Given the description of an element on the screen output the (x, y) to click on. 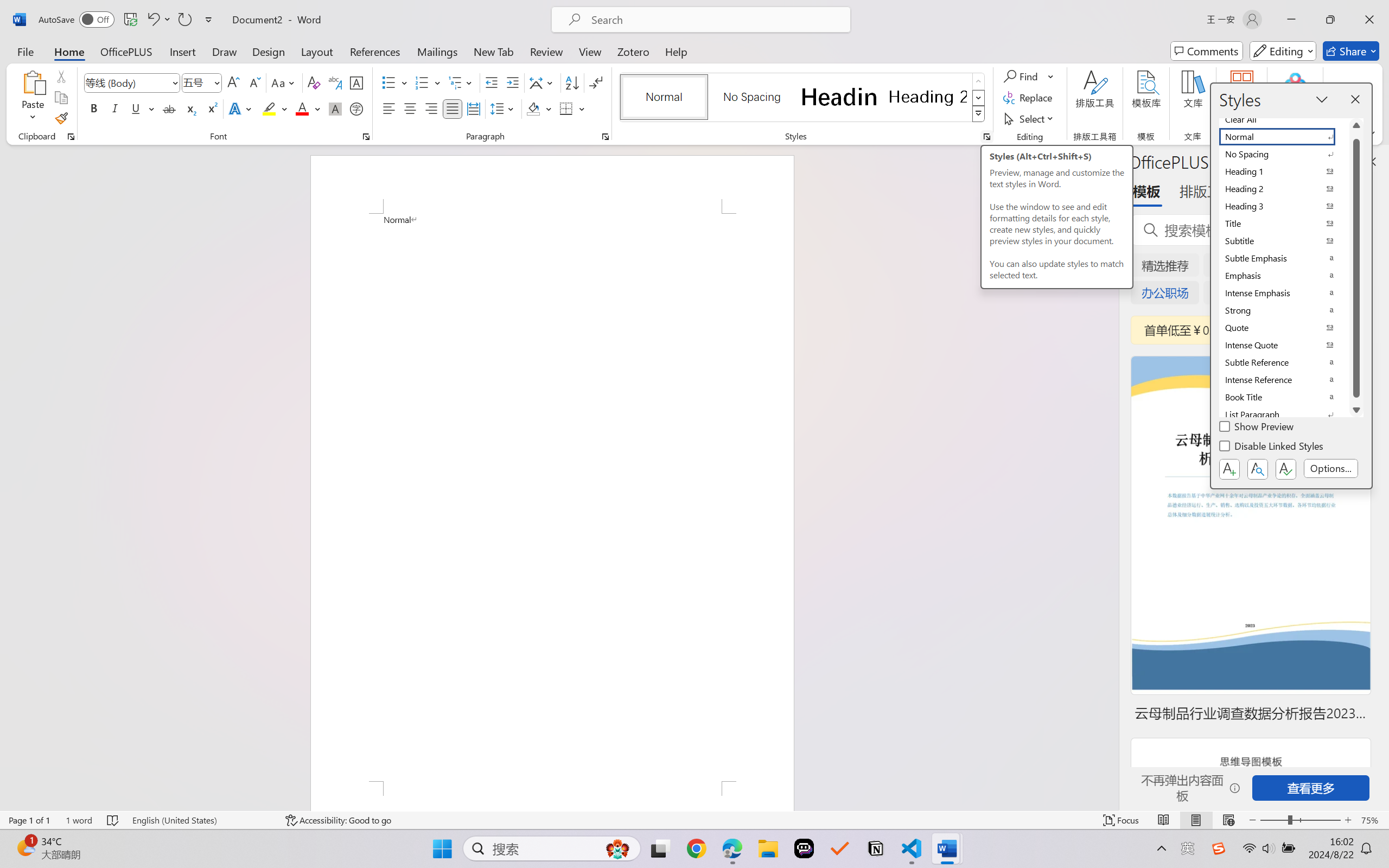
Class: MsoCommandBar (694, 819)
AutomationID: QuickStylesGallery (802, 97)
Line and Paragraph Spacing (503, 108)
Open (215, 82)
Word Count 1 word (78, 819)
New Tab (493, 51)
Restore Down (1330, 19)
Zoom (1300, 819)
File Tab (24, 51)
Review (546, 51)
Comments (1206, 50)
Heading 1 (839, 96)
Customize Quick Access Toolbar (208, 19)
Format Painter (60, 118)
